Given the description of an element on the screen output the (x, y) to click on. 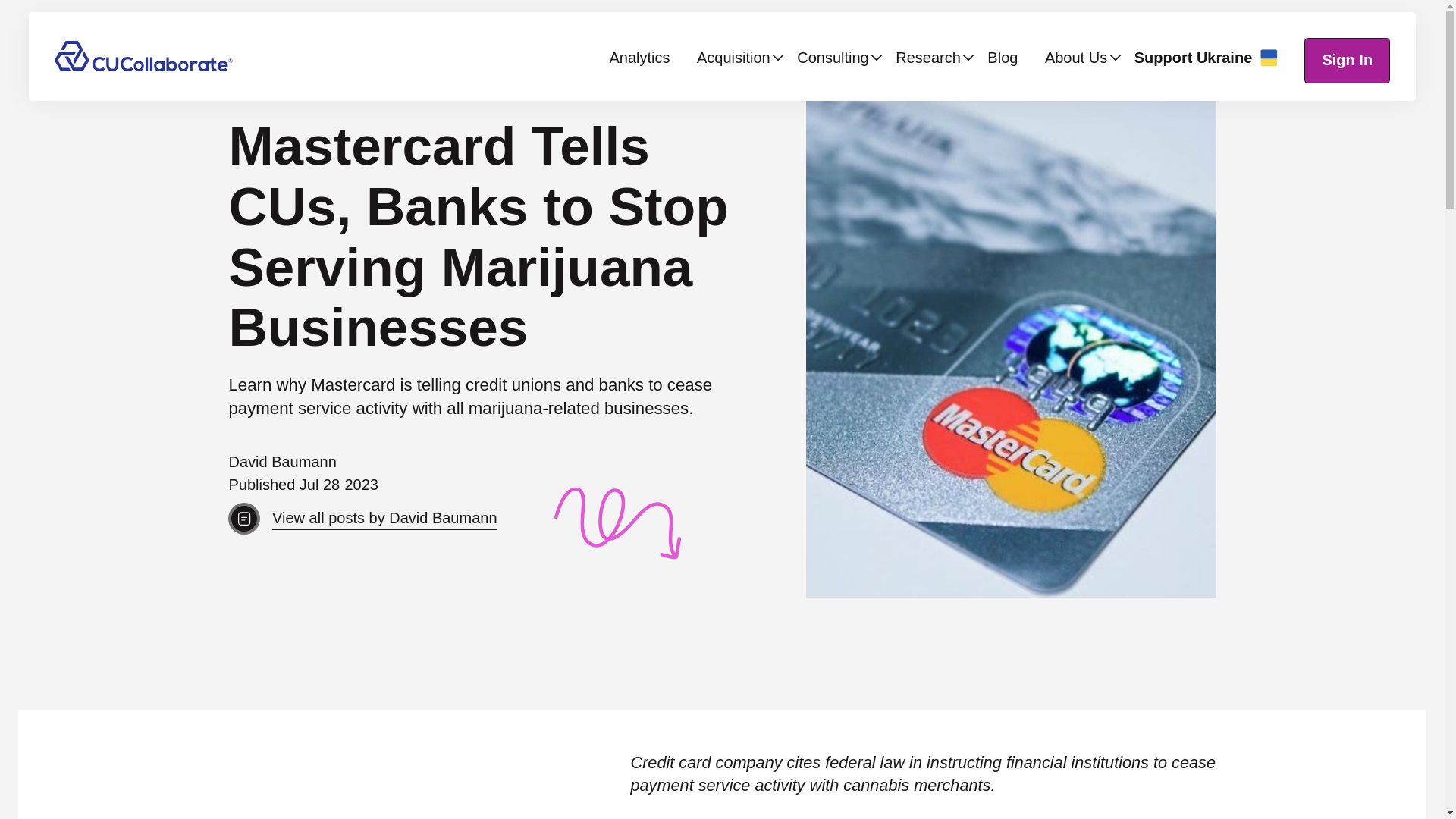
Analytics (638, 57)
Consulting (832, 57)
Sign In (1347, 60)
Research (927, 57)
Acquisition (733, 57)
Support Ukraine (1206, 56)
About Us (1075, 57)
Blog (1002, 57)
